Given the description of an element on the screen output the (x, y) to click on. 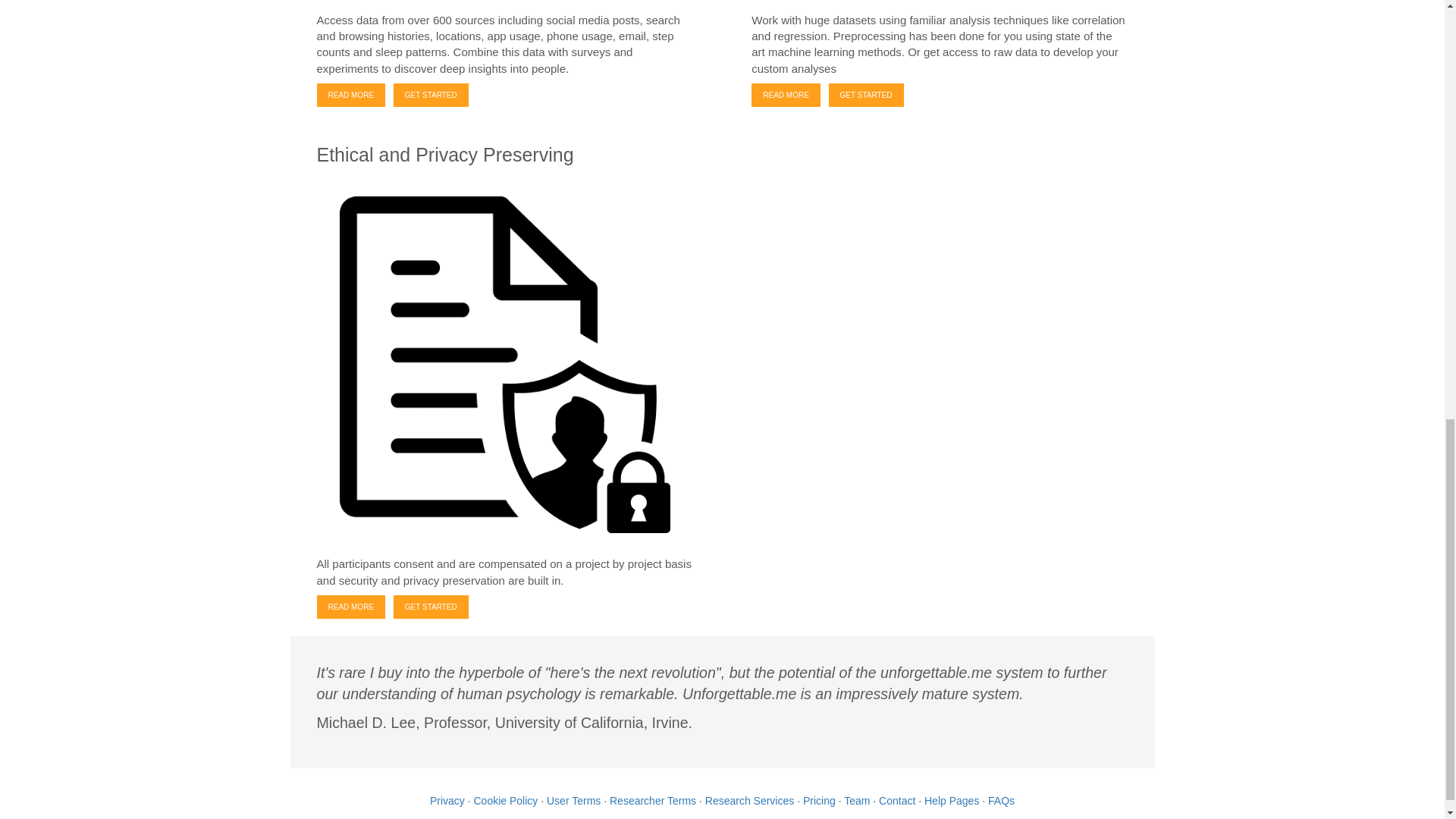
READ MORE (351, 607)
Cookie Policy (505, 799)
FAQs (1001, 799)
GET STARTED (866, 95)
Privacy (446, 799)
Contact (897, 799)
GET STARTED (430, 607)
User Terms (573, 799)
Research Services (749, 799)
Help Pages (951, 799)
READ MORE (786, 95)
READ MORE (351, 95)
GET STARTED (430, 95)
Researcher Terms (652, 799)
Pricing (819, 799)
